Given the description of an element on the screen output the (x, y) to click on. 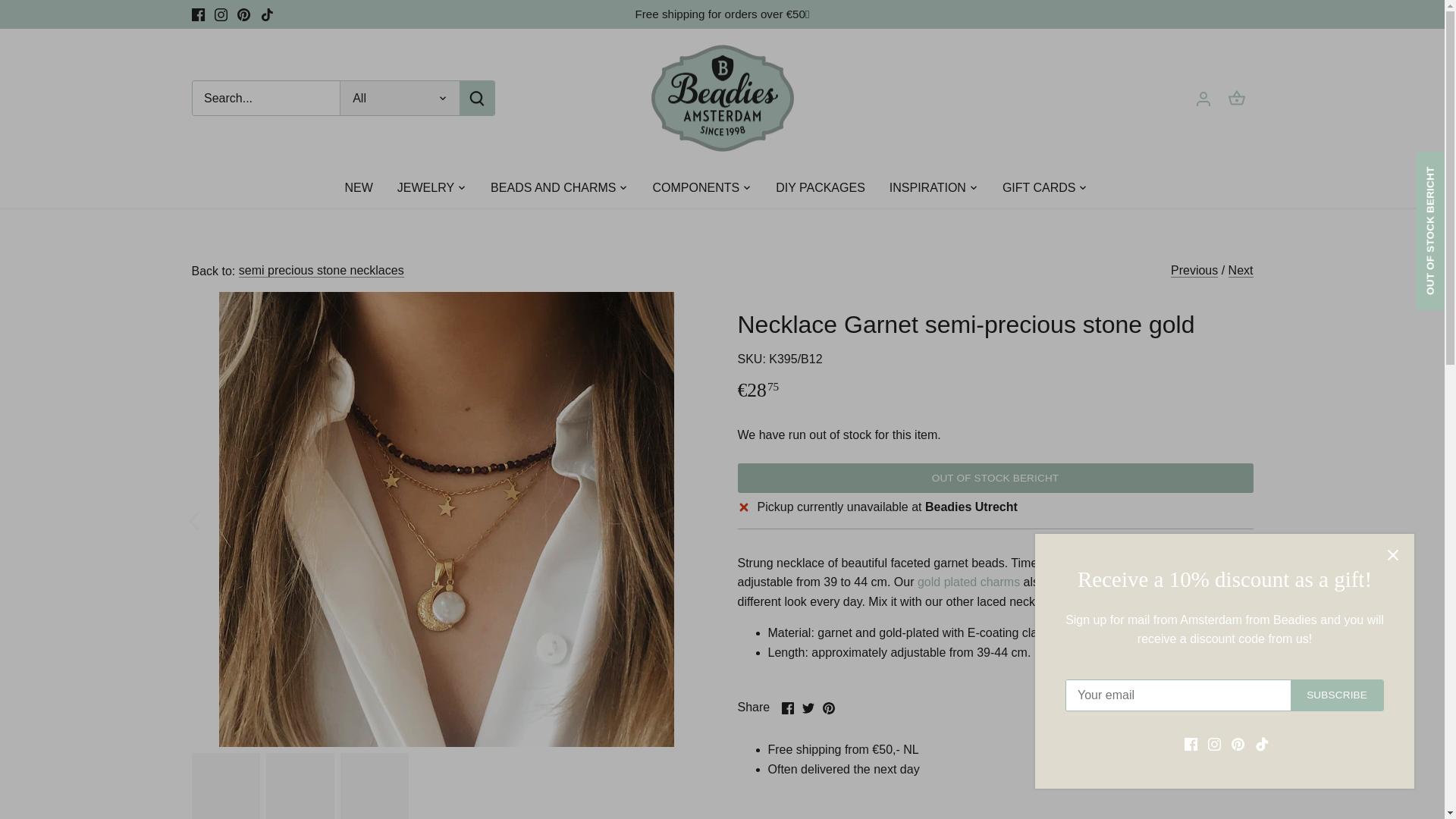
Twitter (807, 707)
Facebook (787, 707)
Instagram (220, 14)
JEWELRY (425, 187)
semi precious stone necklaces (321, 270)
Facebook (196, 14)
Pinterest (828, 707)
Pinterest (243, 14)
NEW (363, 187)
